Given the description of an element on the screen output the (x, y) to click on. 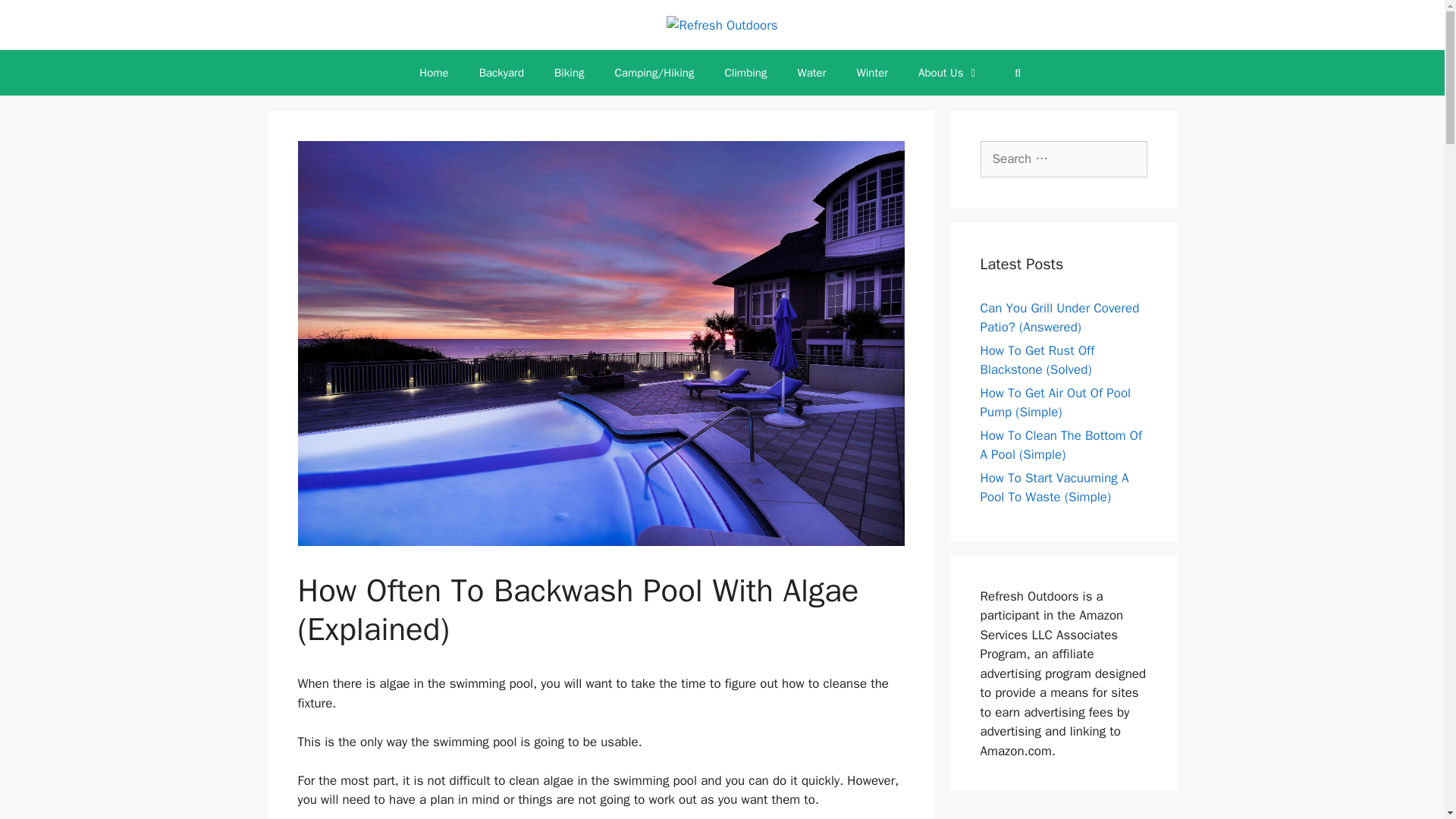
Winter (871, 72)
Biking (568, 72)
Search (35, 18)
Refresh Outdoors (721, 25)
Refresh Outdoors (721, 24)
Climbing (745, 72)
Home (433, 72)
Backyard (501, 72)
About Us (948, 72)
Water (811, 72)
